Given the description of an element on the screen output the (x, y) to click on. 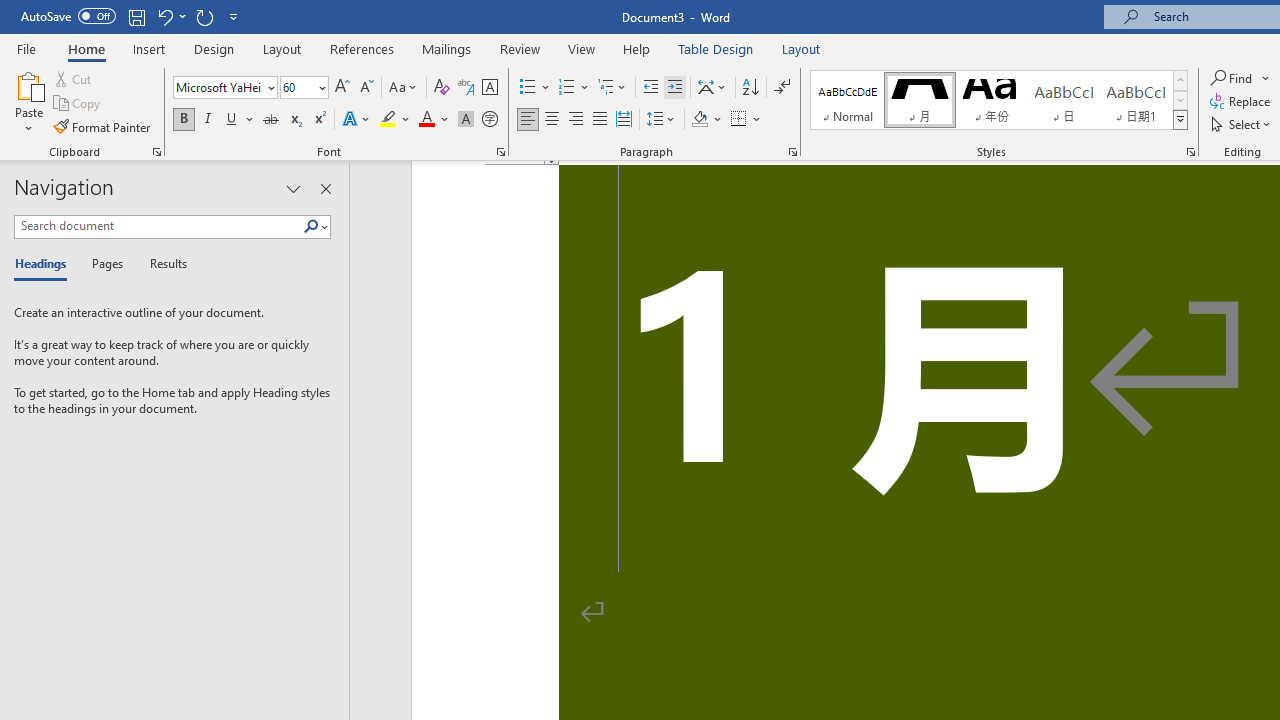
Undo Increase Indent (164, 15)
